Given the description of an element on the screen output the (x, y) to click on. 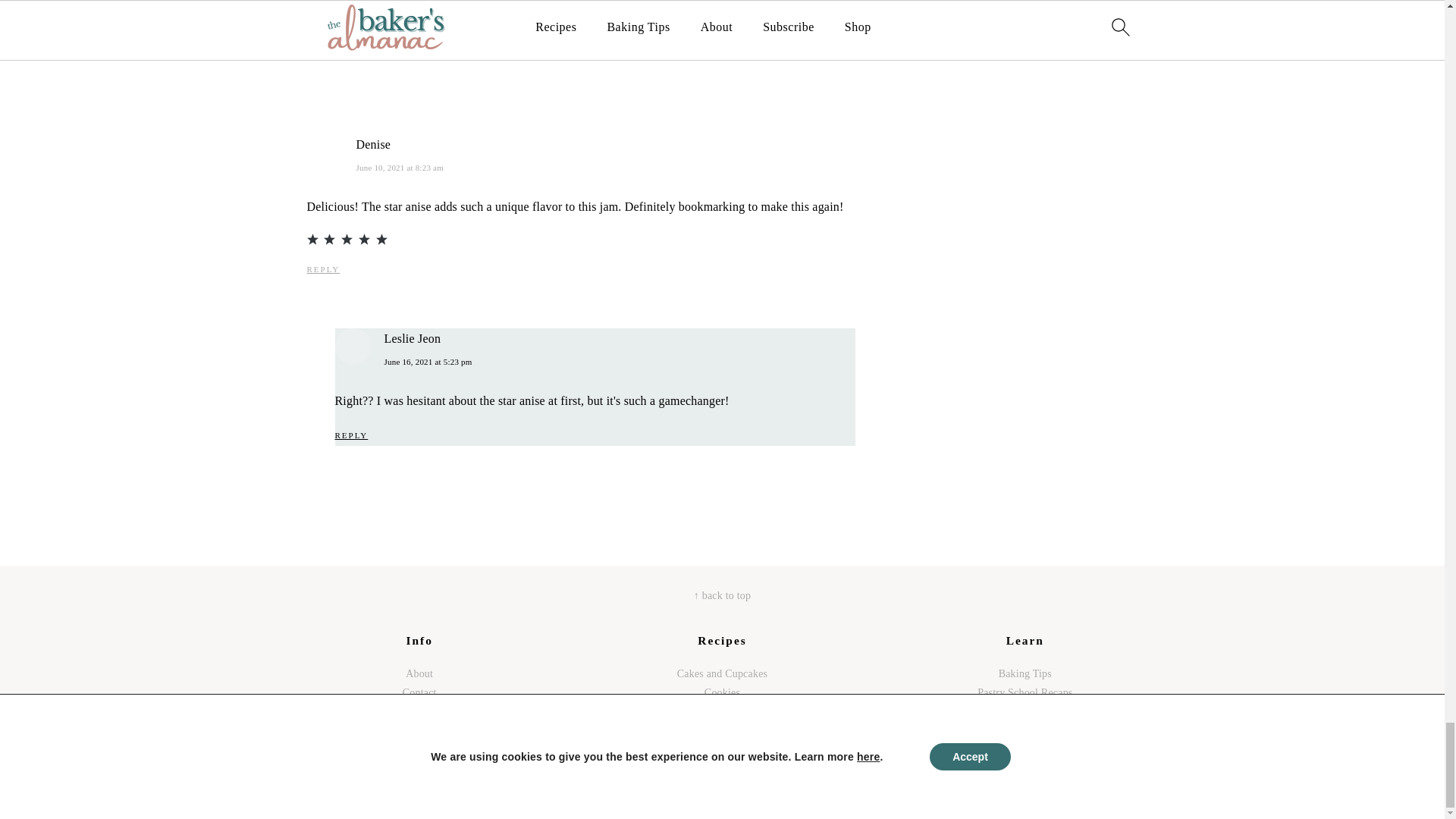
Post Comment (364, 21)
